Given the description of an element on the screen output the (x, y) to click on. 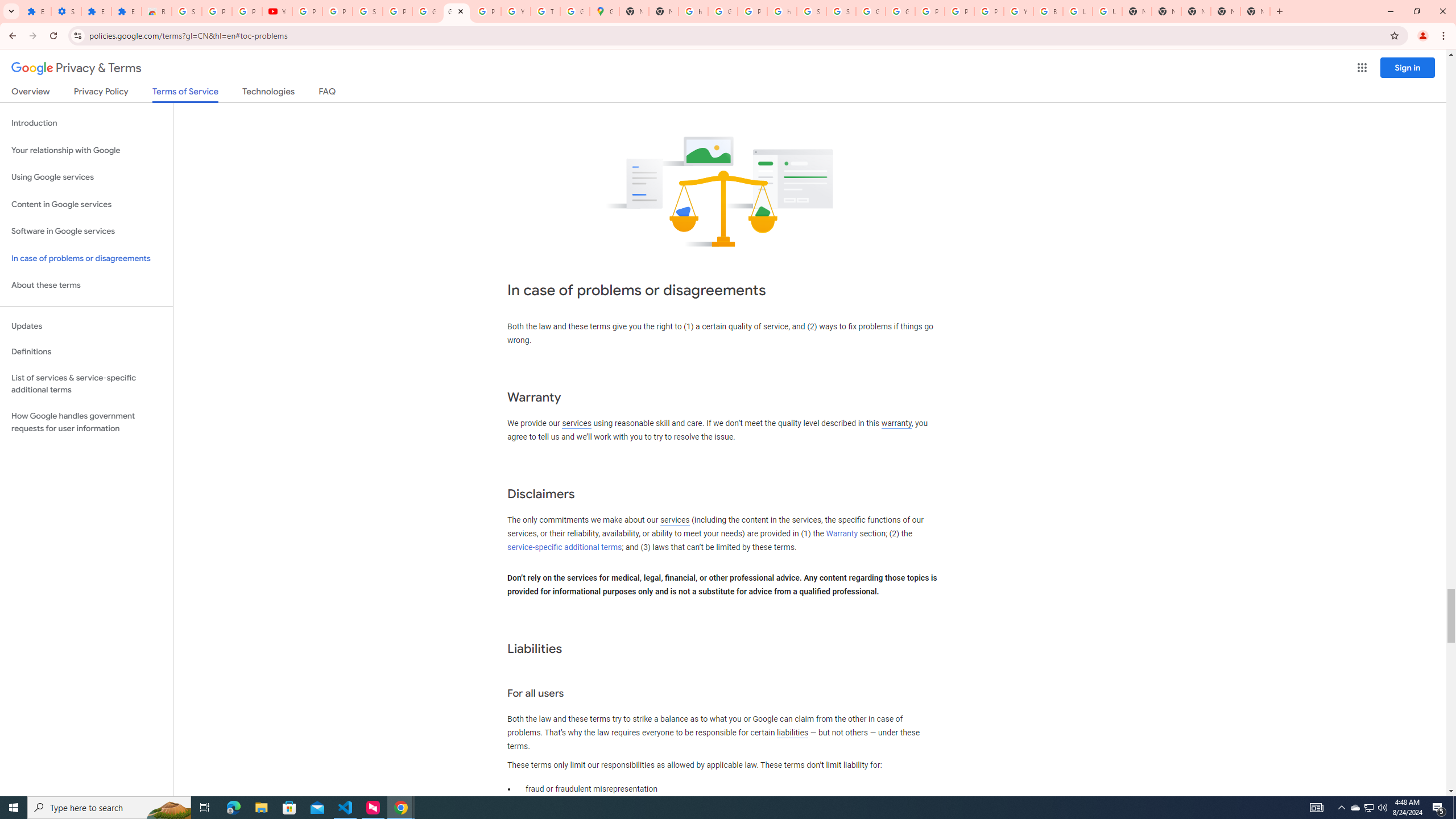
New Tab (1166, 11)
Sign in - Google Accounts (811, 11)
liabilities (792, 732)
https://scholar.google.com/ (692, 11)
Google Maps (604, 11)
warranty (895, 423)
